Given the description of an element on the screen output the (x, y) to click on. 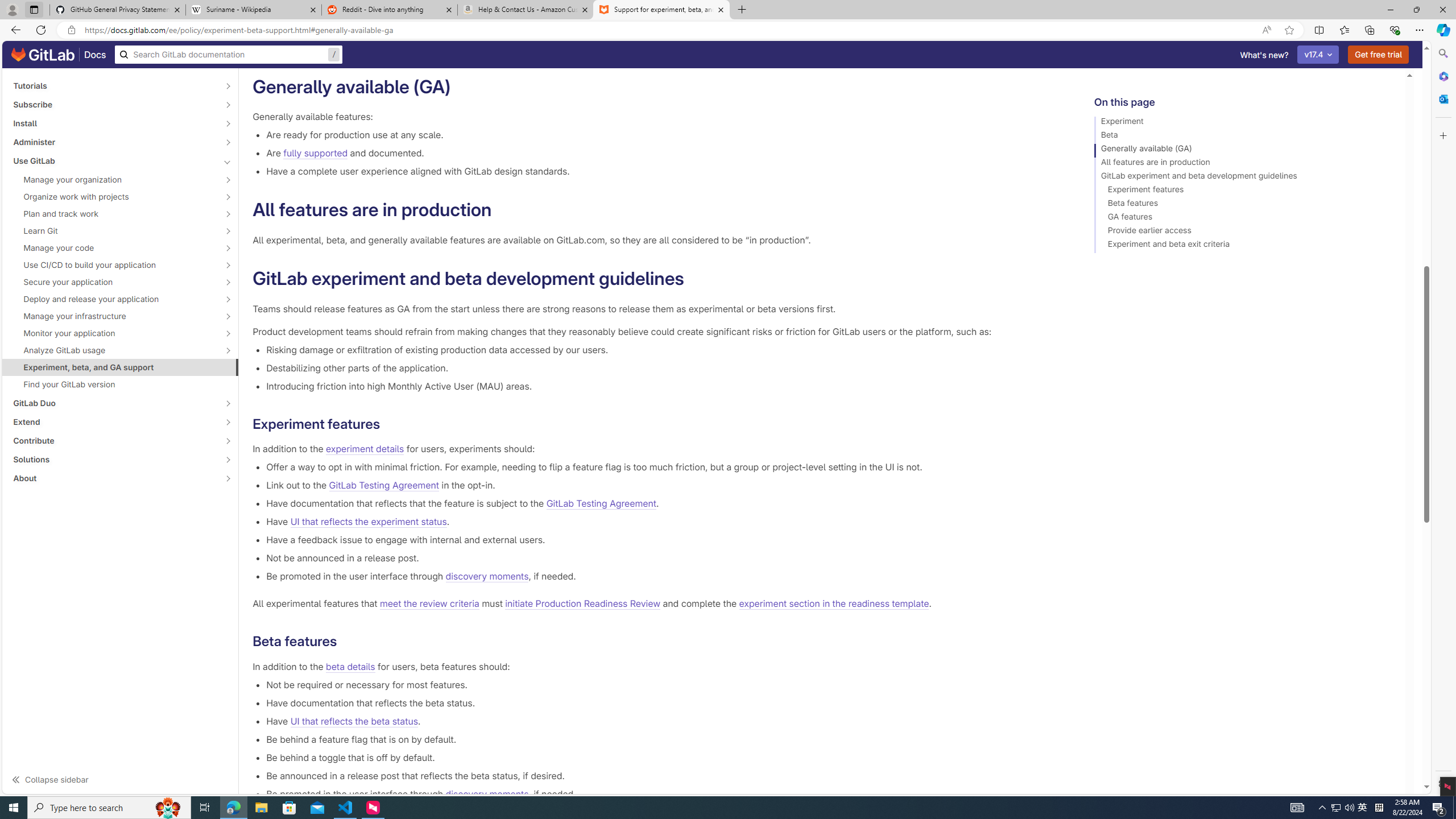
Solutions (113, 459)
UI that reflects the beta status (353, 720)
Help & Contact Us - Amazon Customer Service - Sleeping (525, 9)
Suriname - Wikipedia (253, 9)
Experiment and beta exit criteria (1244, 246)
Tutorials (113, 85)
Generally available (GA) (1244, 150)
Not be required or necessary for most features. (662, 684)
GA features (1244, 218)
Analyze GitLab usage (113, 349)
Have a user experience that is complete or near completion. (662, 47)
